Given the description of an element on the screen output the (x, y) to click on. 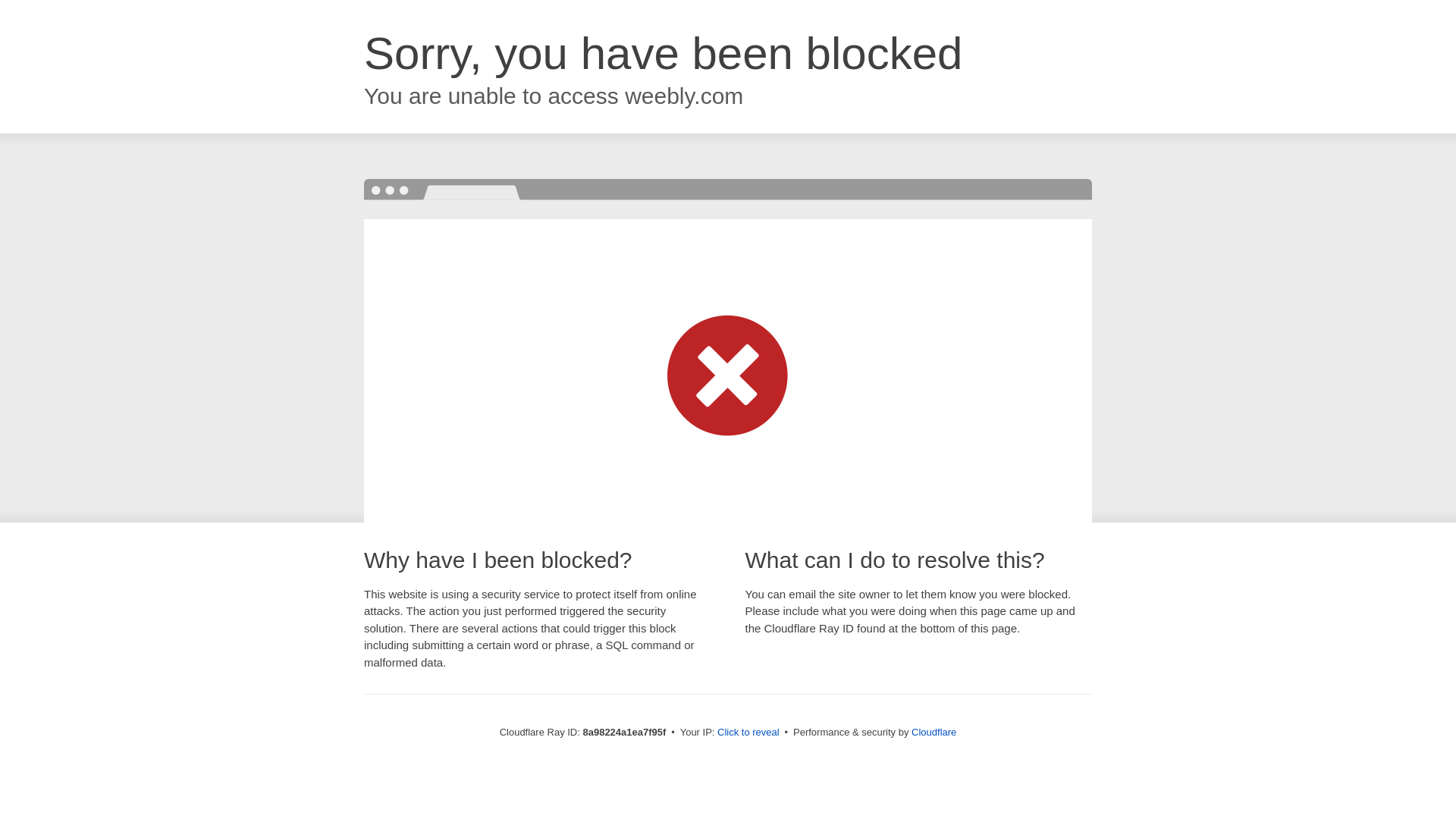
Click to reveal (747, 732)
Cloudflare (933, 731)
